Given the description of an element on the screen output the (x, y) to click on. 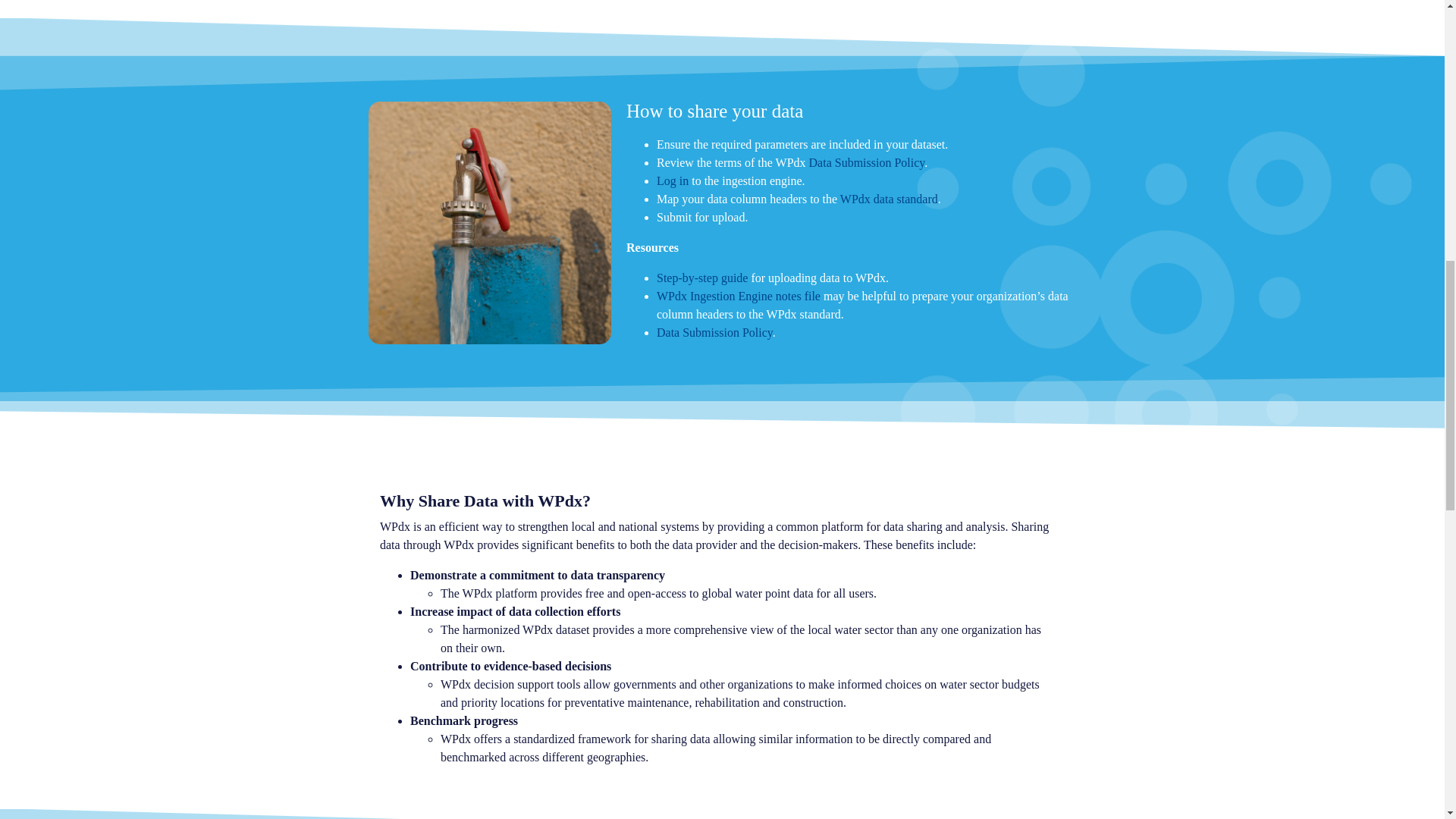
WPdx data standard (888, 198)
Log in (672, 180)
Data Submission Policy (866, 162)
